Given the description of an element on the screen output the (x, y) to click on. 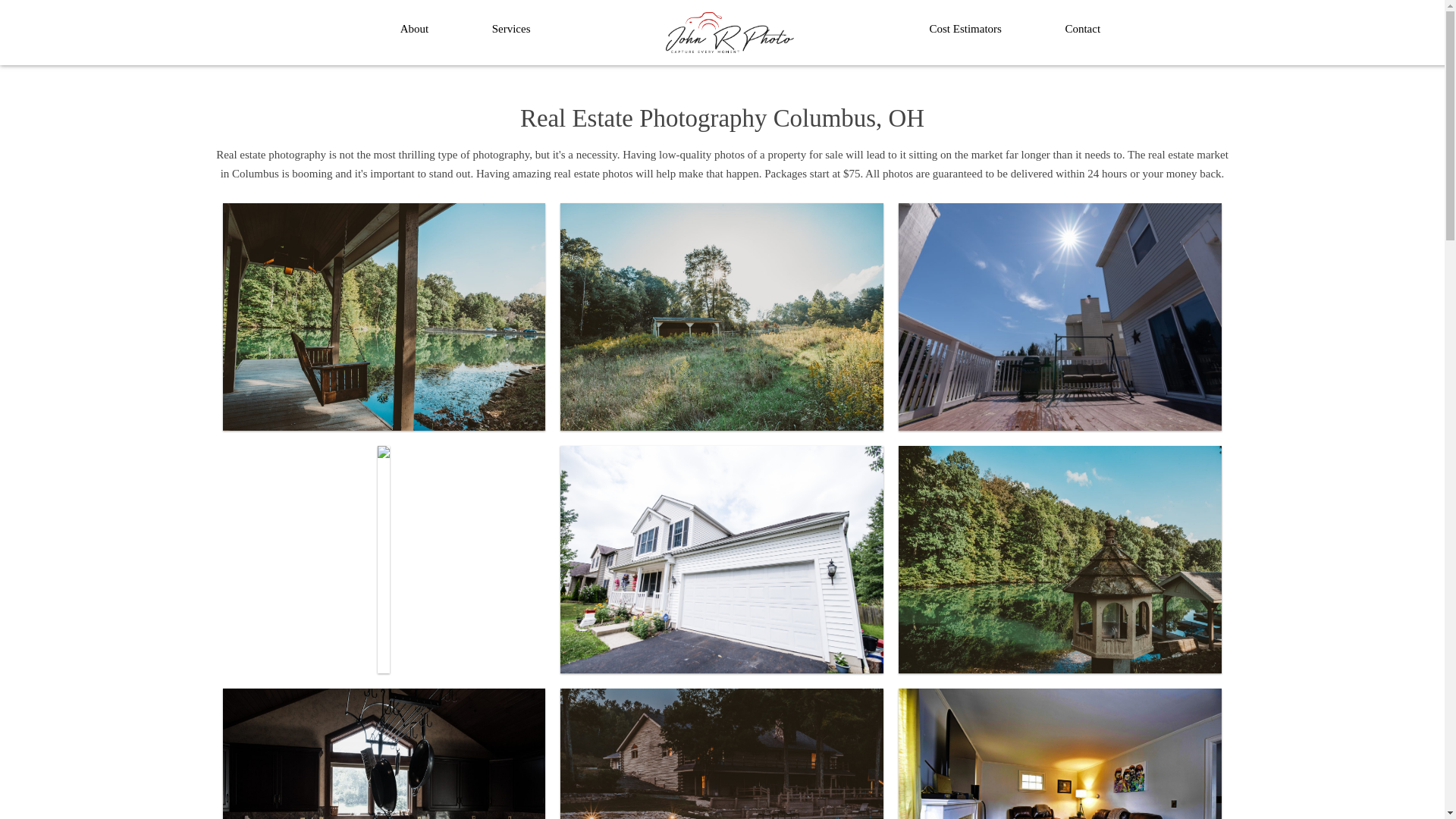
Cost Estimators (964, 28)
About (414, 28)
Services (510, 28)
Contact (1082, 28)
